Given the description of an element on the screen output the (x, y) to click on. 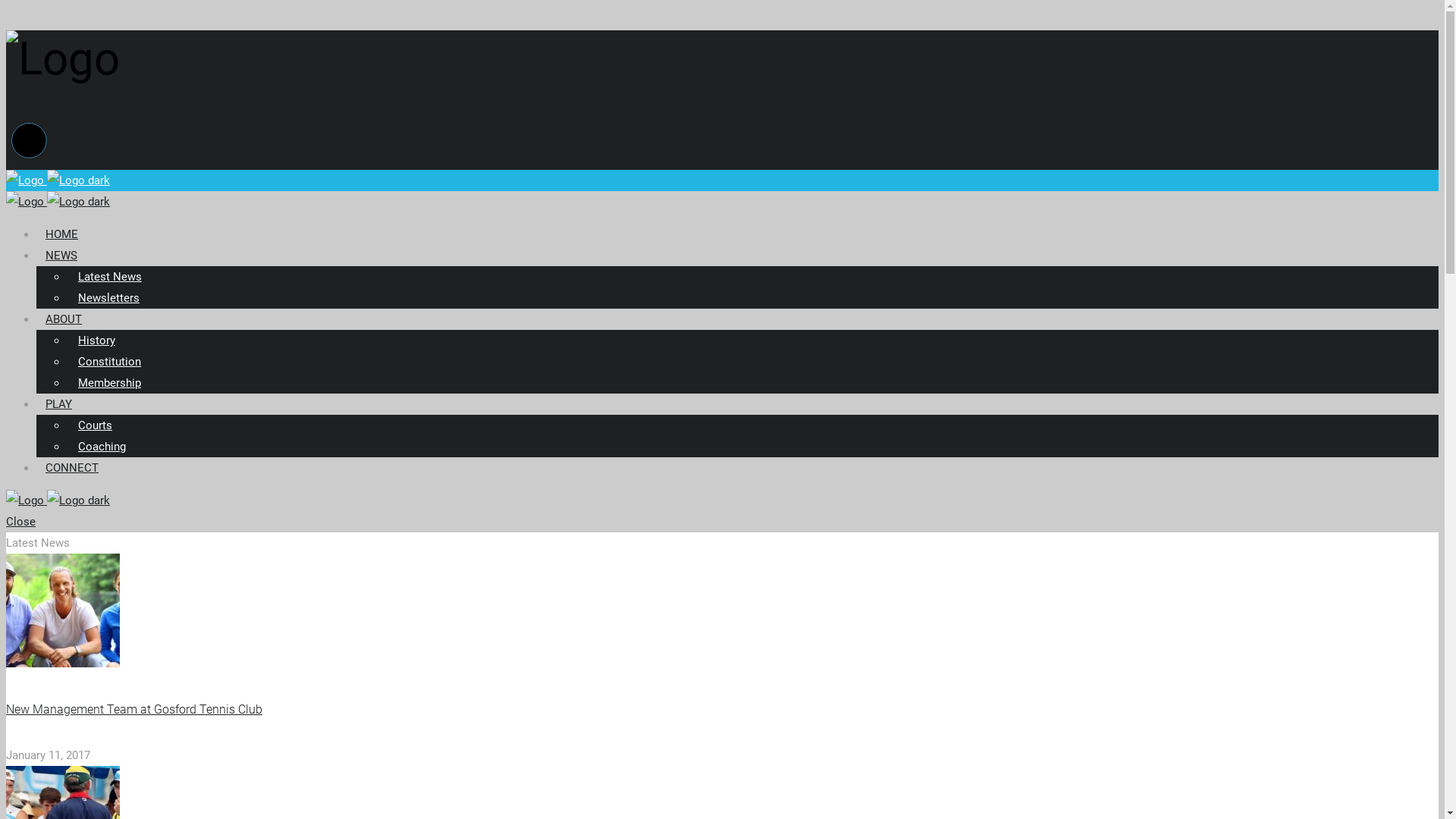
Newsletters Element type: text (108, 297)
ABOUT Element type: text (63, 319)
Latest News Element type: text (109, 276)
History Element type: text (96, 340)
Courts Element type: text (94, 425)
NEWS Element type: text (61, 255)
CONNECT Element type: text (71, 467)
Close Element type: text (20, 521)
New Management Team at Gosford Tennis Club Element type: text (134, 709)
PLAY Element type: text (58, 403)
Membership Element type: text (109, 382)
Constitution Element type: text (109, 361)
Coaching Element type: text (101, 446)
HOME Element type: text (61, 234)
